Given the description of an element on the screen output the (x, y) to click on. 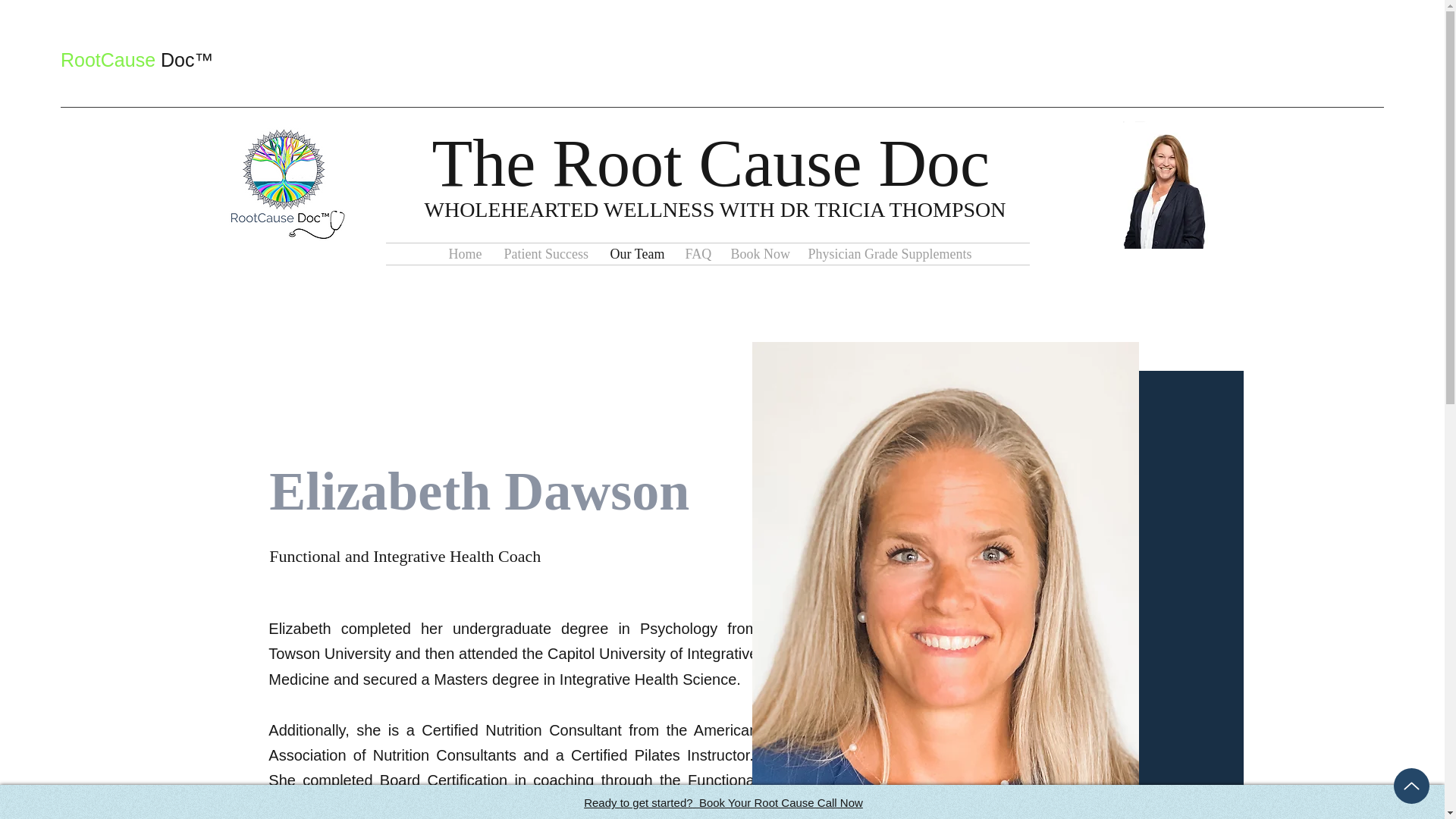
Physician Grade Supplements (886, 253)
FAQ (695, 253)
Home (464, 253)
Patient Success (545, 253)
Our Team (636, 253)
Ready to get started?  Book Your Root Cause Call Now (723, 802)
Book Now (757, 253)
